Given the description of an element on the screen output the (x, y) to click on. 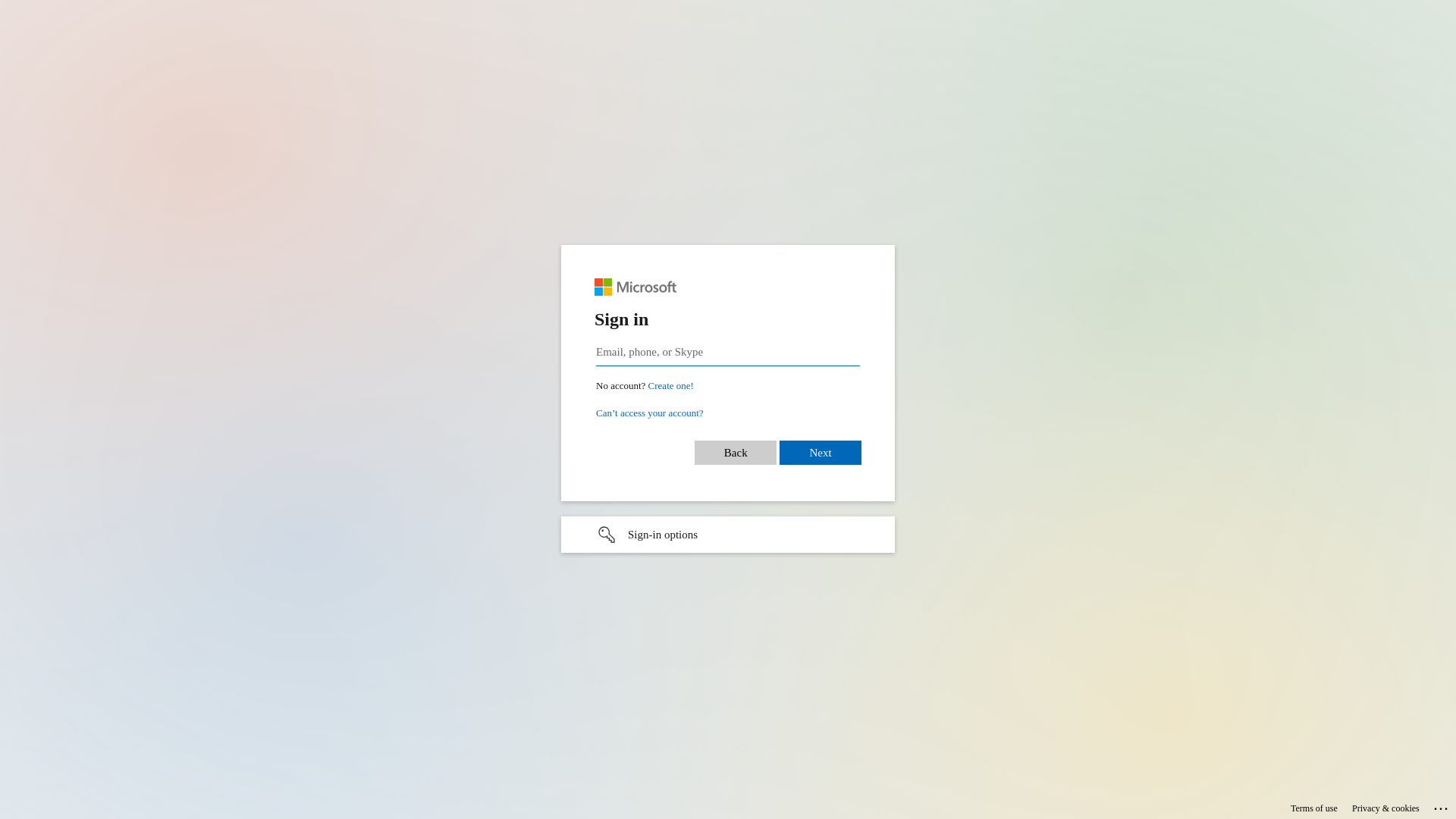
Create one! Element type: text (670, 385)
Next Element type: text (820, 452)
... Element type: text (1441, 805)
